Given the description of an element on the screen output the (x, y) to click on. 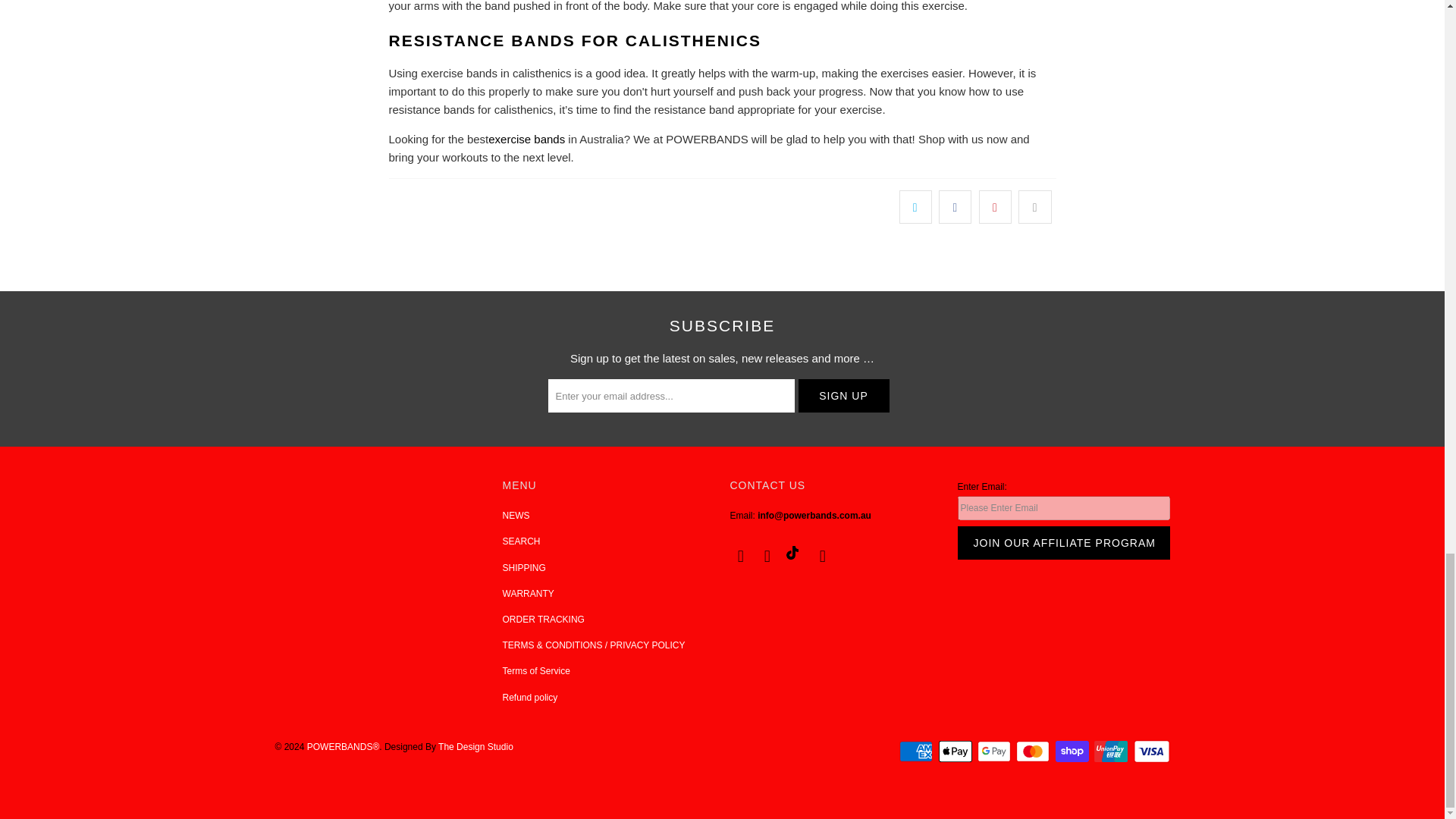
Join Our Affiliate Program (1062, 542)
Share this on Pinterest (994, 206)
Shop Pay (1073, 751)
Email this to a friend (1034, 206)
Share this on Facebook (955, 206)
Google Pay (994, 751)
Apple Pay (957, 751)
American Express (917, 751)
Share this on Twitter (915, 206)
Visa (1150, 751)
Mastercard (1034, 751)
Union Pay (1112, 751)
Sign Up (842, 395)
